Given the description of an element on the screen output the (x, y) to click on. 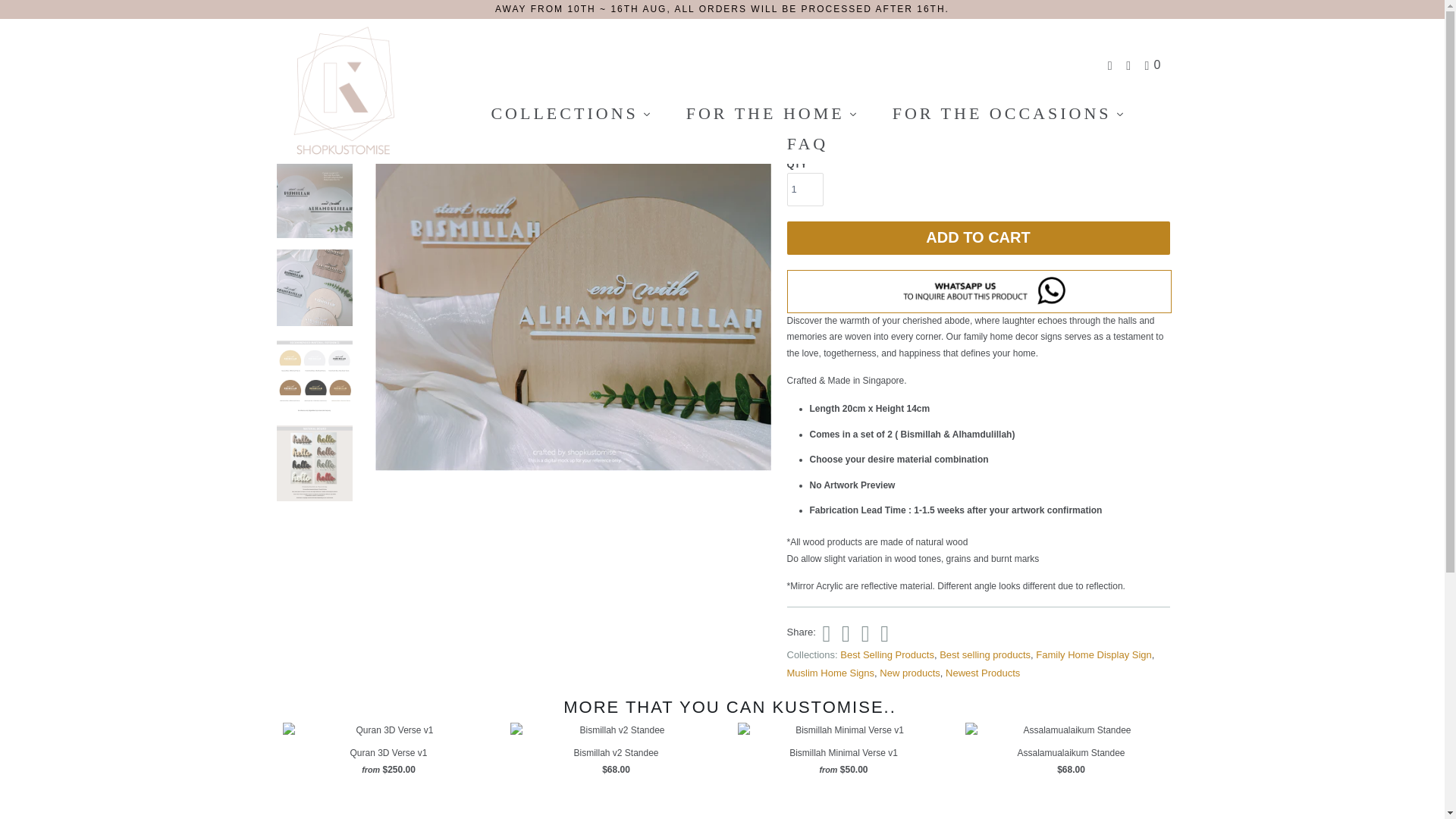
1 (805, 189)
0 (1154, 65)
FOR THE OCCASIONS (1008, 113)
FAQ (807, 143)
COLLECTIONS (570, 113)
SHOPKUSTOMISE (286, 48)
For the Home (771, 113)
FAQ (807, 143)
SHOPKUSTOMISE (352, 90)
For the Occasions (1008, 113)
